Given the description of an element on the screen output the (x, y) to click on. 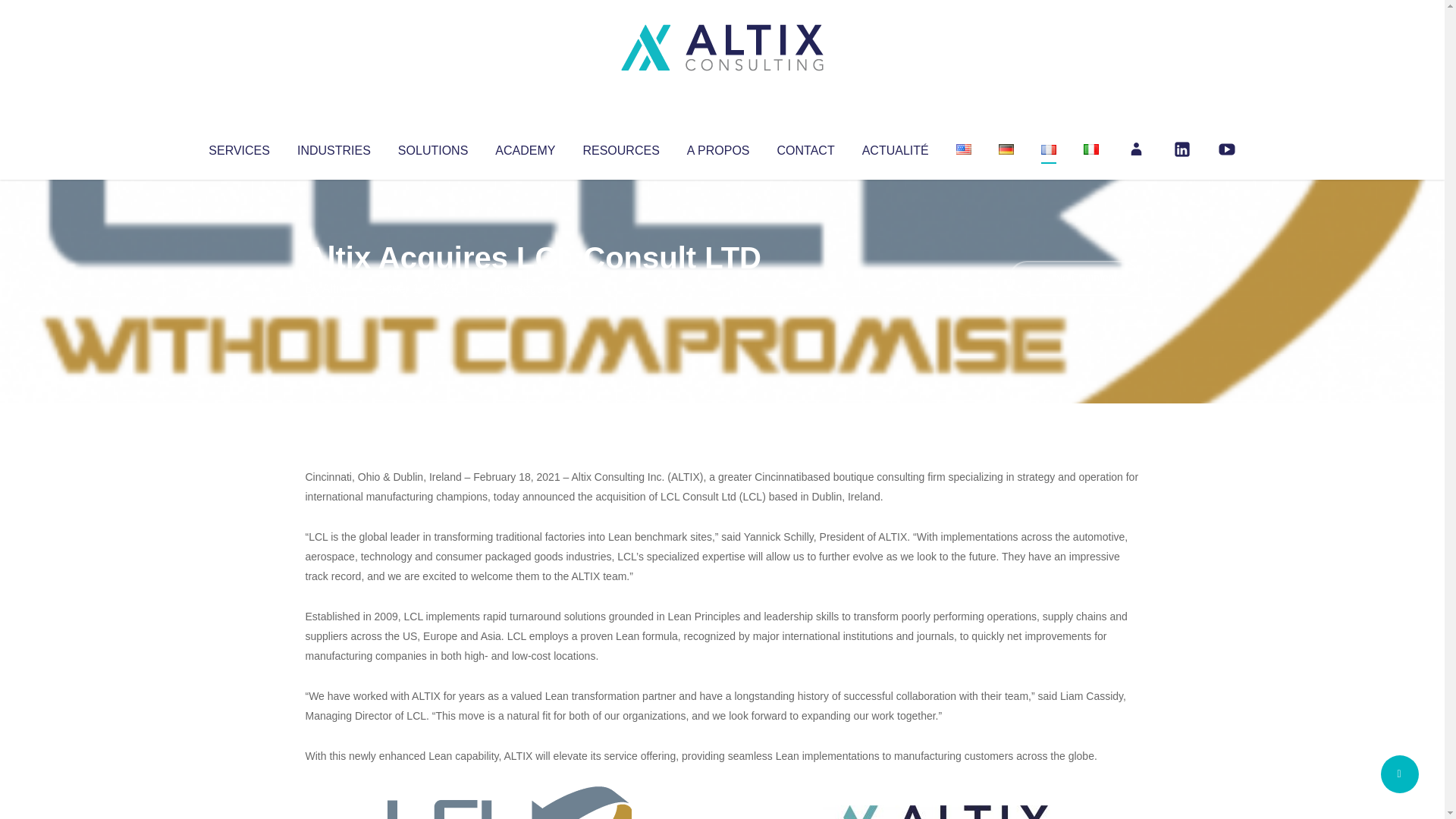
A PROPOS (718, 146)
SOLUTIONS (432, 146)
ACADEMY (524, 146)
No Comments (1073, 278)
Uncategorized (530, 287)
Altix (333, 287)
SERVICES (238, 146)
INDUSTRIES (334, 146)
Articles par Altix (333, 287)
RESOURCES (620, 146)
